Given the description of an element on the screen output the (x, y) to click on. 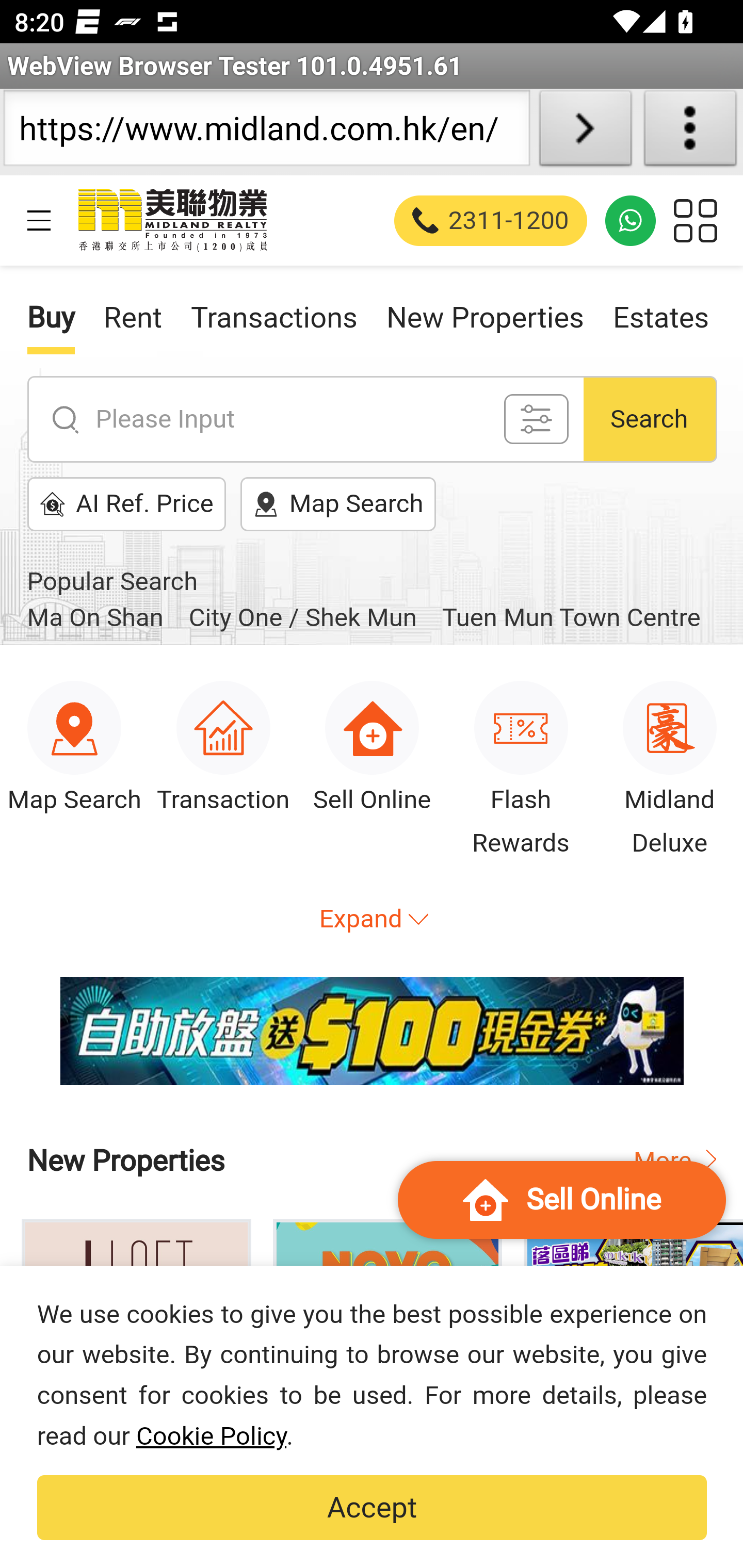
https://www.midland.com.hk/en/ (266, 132)
Load URL (585, 132)
About WebView (690, 132)
Midland Realty - Property Agency in Hong Kong (171, 220)
2311-1200 (490, 219)
WhatsApp: 2311-1200 (630, 219)
Buy (50, 324)
Rent (133, 324)
Transactions (273, 324)
New Properties (484, 324)
Estates (660, 324)
Search (649, 418)
icon (535, 418)
Map Search Map Search Map Search Map Search (337, 504)
Ma On Shan (94, 617)
City One / Shek Mun (301, 617)
Tuen Mun Town Centre (571, 617)
Map Search (74, 789)
Transaction (222, 789)
Sell Online (372, 789)
Flash Rewards (520, 789)
Midland Deluxe (668, 789)
網上放盤 (371, 1031)
Sell Online (562, 1200)
Cookie Policy (210, 1435)
Accept (372, 1508)
